Given the description of an element on the screen output the (x, y) to click on. 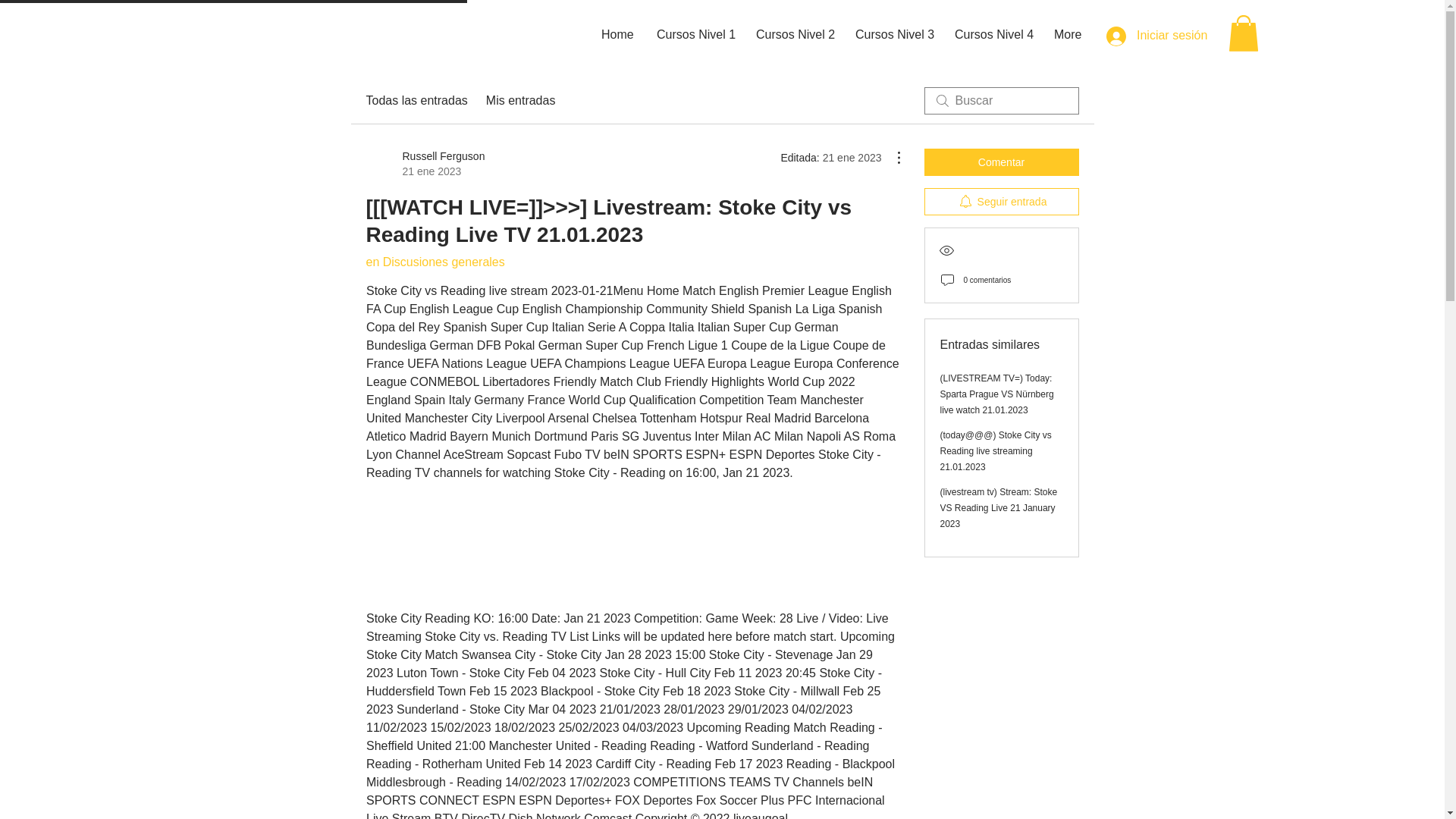
Comentar (1000, 162)
Cursos Nivel 3 (893, 34)
en Discusiones generales (434, 261)
Mis entradas (521, 100)
Home (617, 34)
Seguir entrada (1000, 201)
Cursos Nivel 2 (794, 34)
Cursos Nivel 1 (694, 34)
Cursos Nivel 4 (424, 163)
Todas las entradas (992, 34)
